Given the description of an element on the screen output the (x, y) to click on. 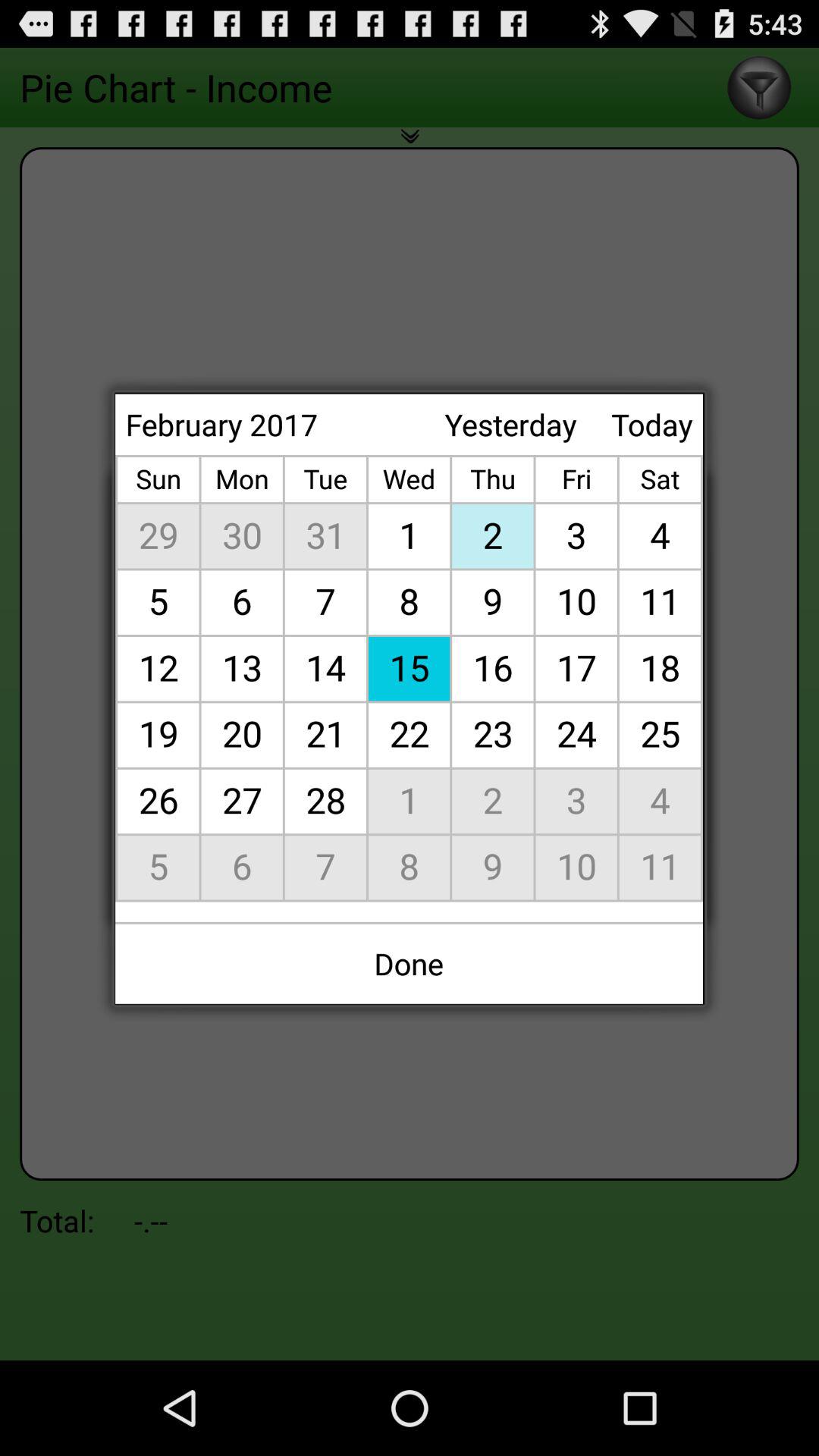
turn on the icon next to february 2017 item (510, 424)
